Given the description of an element on the screen output the (x, y) to click on. 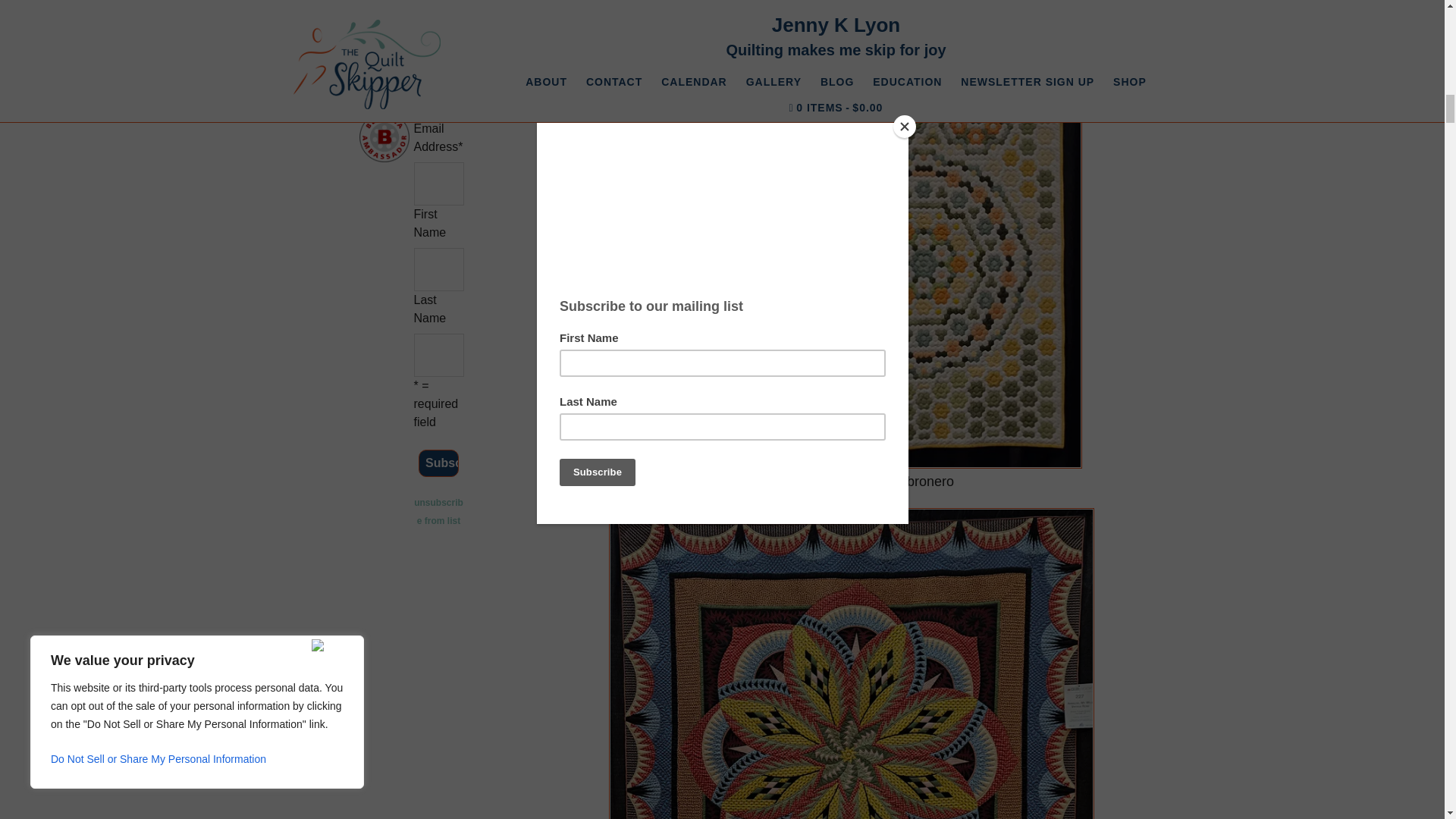
Subscribe (438, 462)
